Given the description of an element on the screen output the (x, y) to click on. 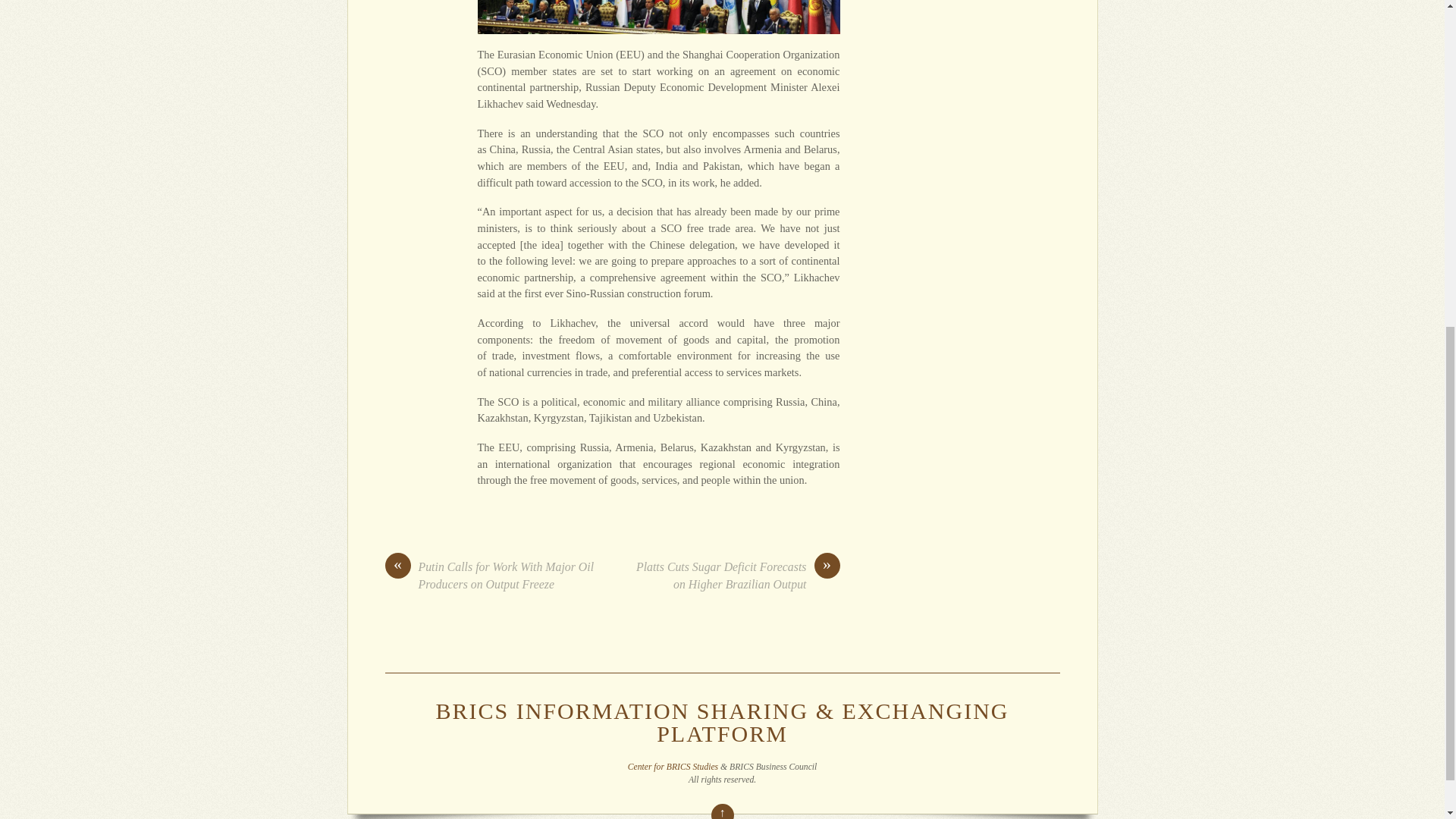
Center for BRICS Studies (672, 767)
